Given the description of an element on the screen output the (x, y) to click on. 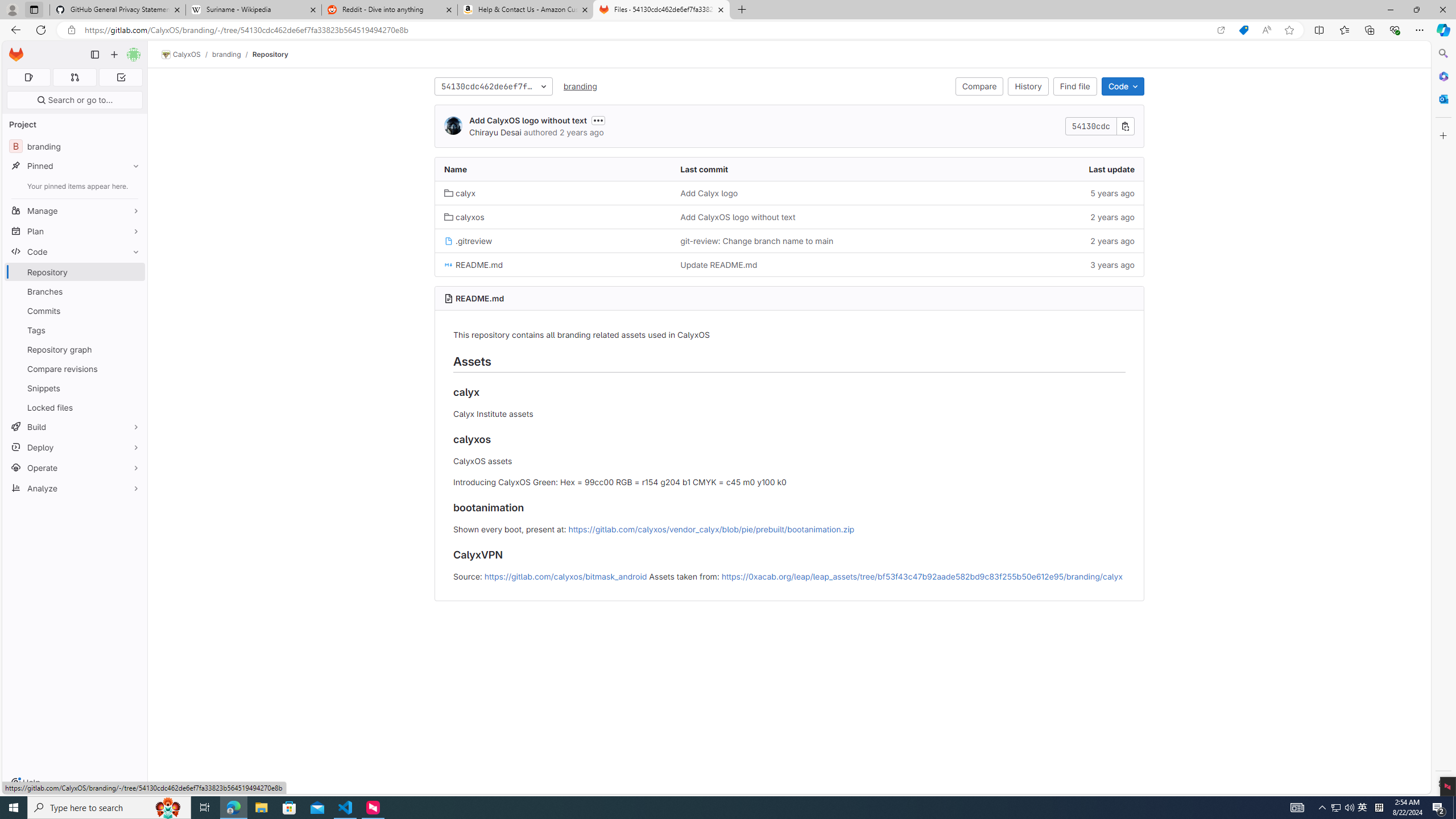
Locked files (74, 407)
CalyxOS/ (186, 54)
Pin Repository (132, 272)
Add CalyxOS logo without text (789, 216)
Code (1122, 85)
GitHub General Privacy Statement - GitHub Docs (117, 9)
Pin Snippets (132, 387)
Deploy (74, 447)
Pin Tags (132, 329)
Name (553, 169)
Branches (74, 290)
Help (25, 782)
